Given the description of an element on the screen output the (x, y) to click on. 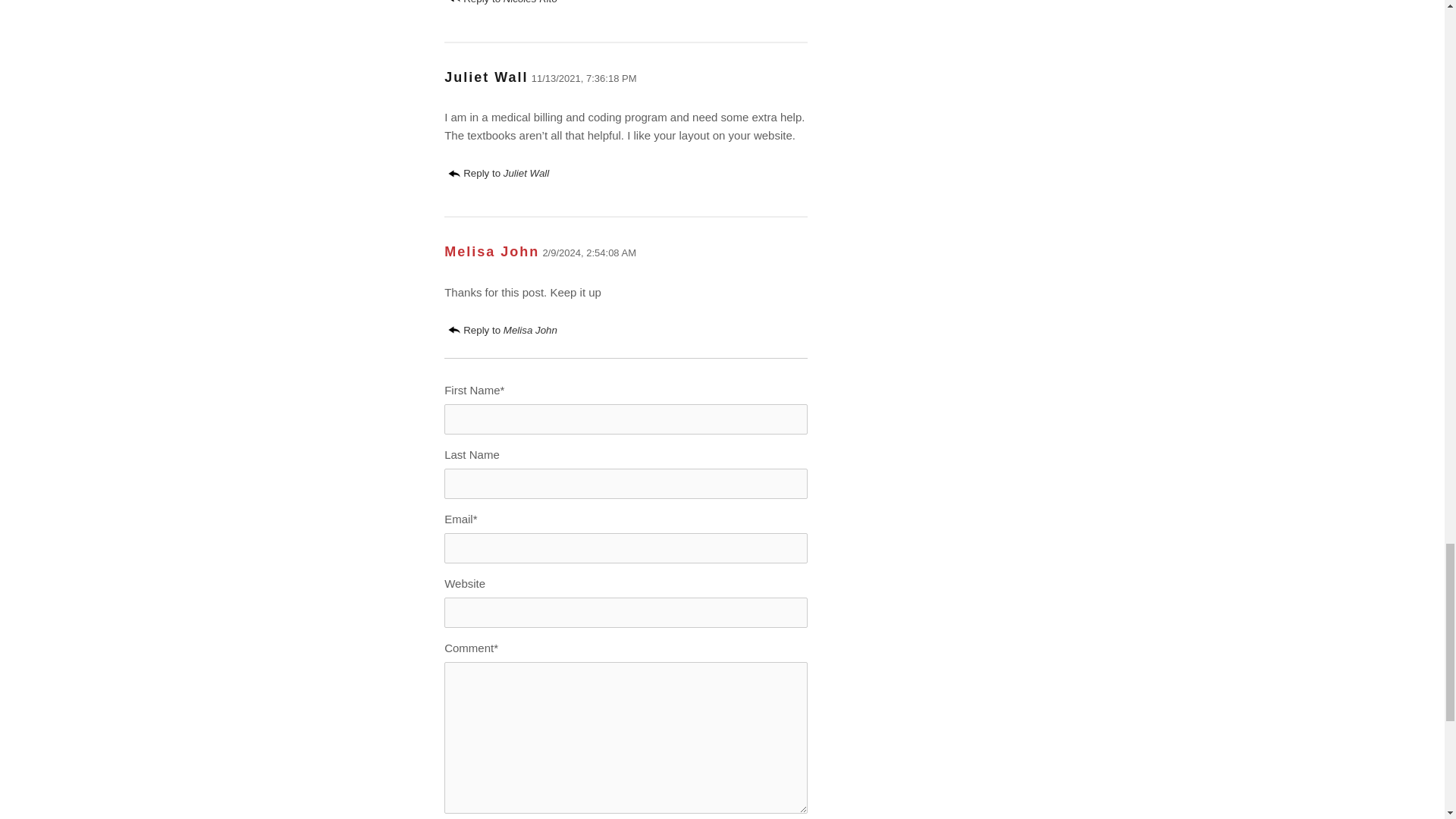
Melisa John (491, 251)
Reply to Nicoles Rito (503, 2)
Reply to Melisa John (503, 329)
Reply to Juliet Wall (498, 173)
